Given the description of an element on the screen output the (x, y) to click on. 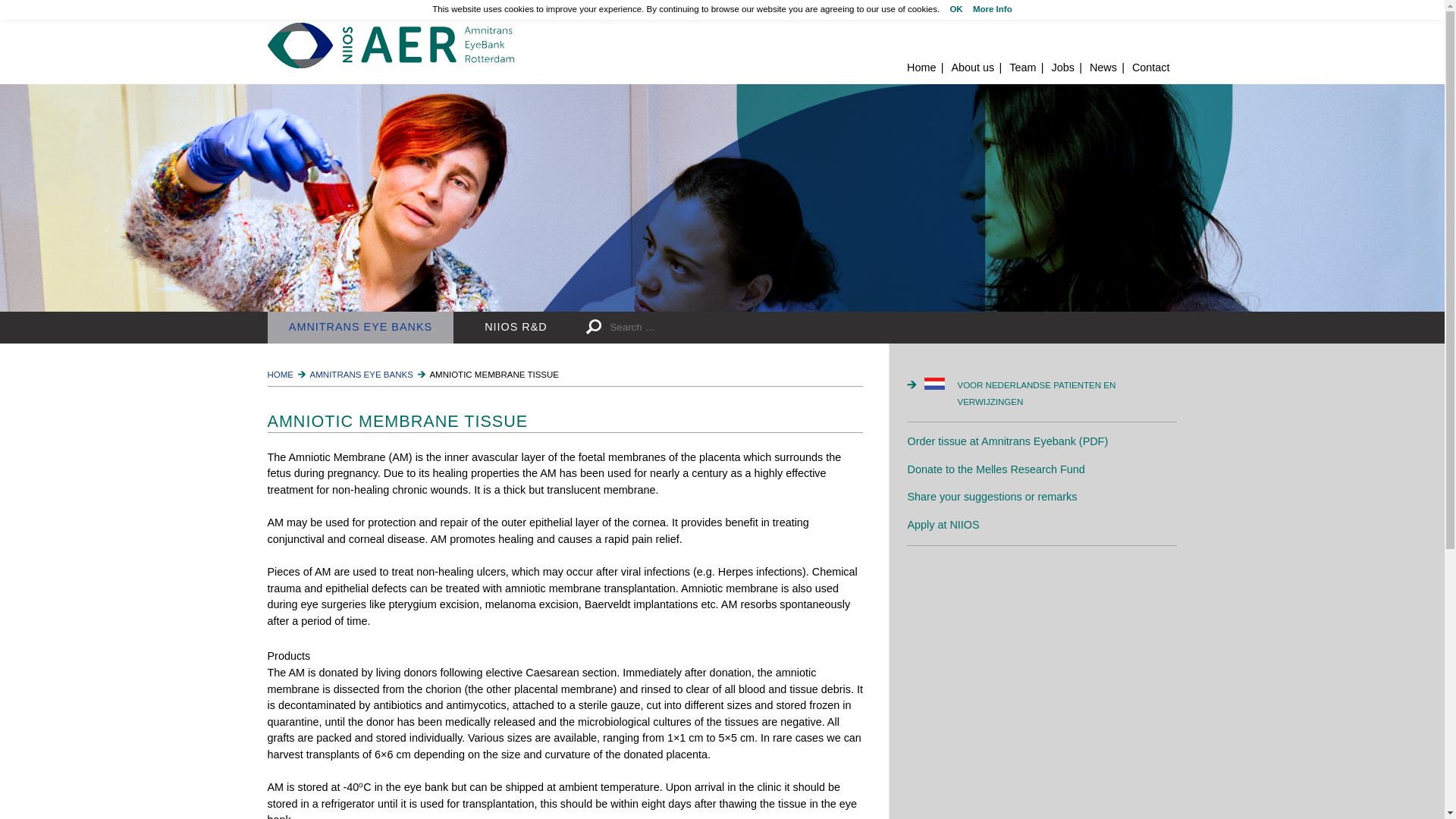
Search for: (730, 327)
AMNITRANS EYE BANKS (361, 374)
Donate to the Melles Research Fund (995, 469)
VOOR NEDERLANDSE PATIENTEN EN VERWIJZINGEN (1050, 393)
HOME (280, 374)
Contact (1151, 67)
Share your suggestions or remarks (992, 496)
Team (1022, 67)
About us (972, 67)
Home (921, 67)
Jobs (1062, 67)
Apply at NIIOS (942, 524)
AMNITRANS EYE BANKS (359, 327)
Home (389, 45)
News (1102, 67)
